Given the description of an element on the screen output the (x, y) to click on. 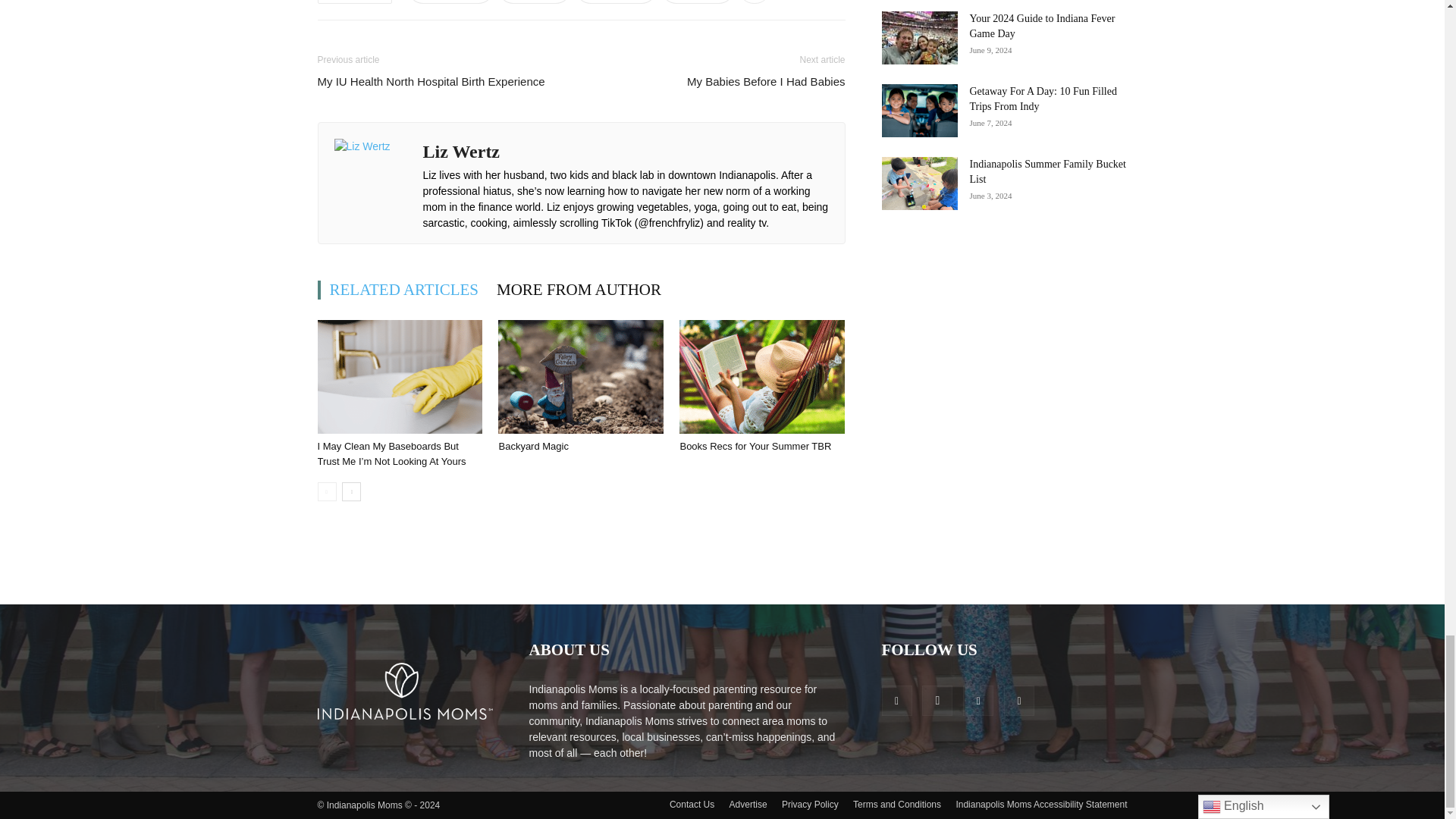
Twitter (534, 2)
Facebook (450, 2)
